Given the description of an element on the screen output the (x, y) to click on. 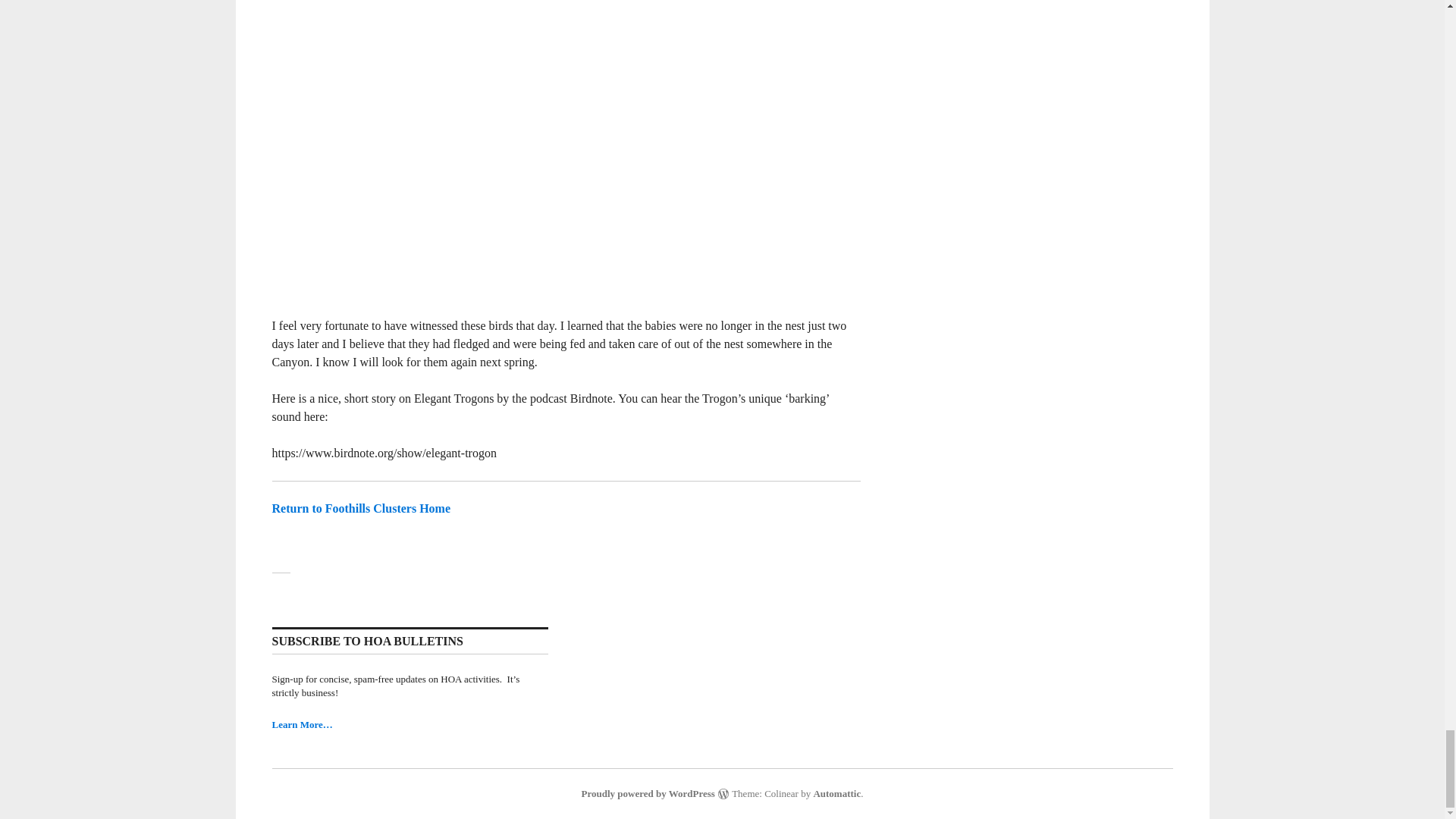
Return to Foothills Clusters Home (359, 508)
Automattic (836, 793)
Proudly powered by WordPress (647, 793)
